Given the description of an element on the screen output the (x, y) to click on. 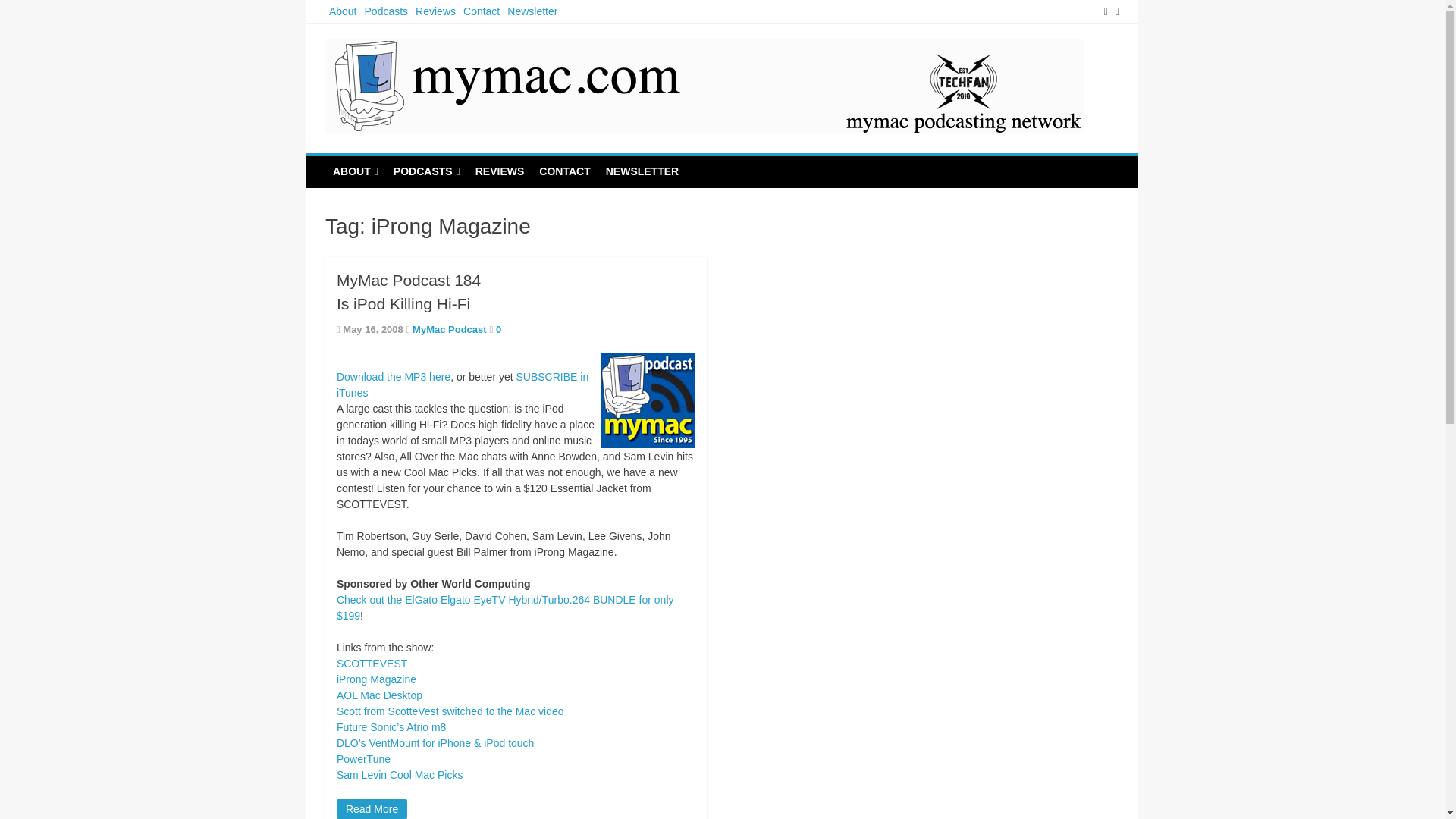
CONTACT (563, 171)
SUBSCRIBE in iTunes (462, 384)
Contact (481, 11)
Reviews (436, 11)
ABOUT (354, 172)
NEWSLETTER (641, 171)
REVIEWS (499, 171)
AOL Mac Desktop (379, 695)
Read More (371, 809)
iProng Magazine (376, 679)
